Given the description of an element on the screen output the (x, y) to click on. 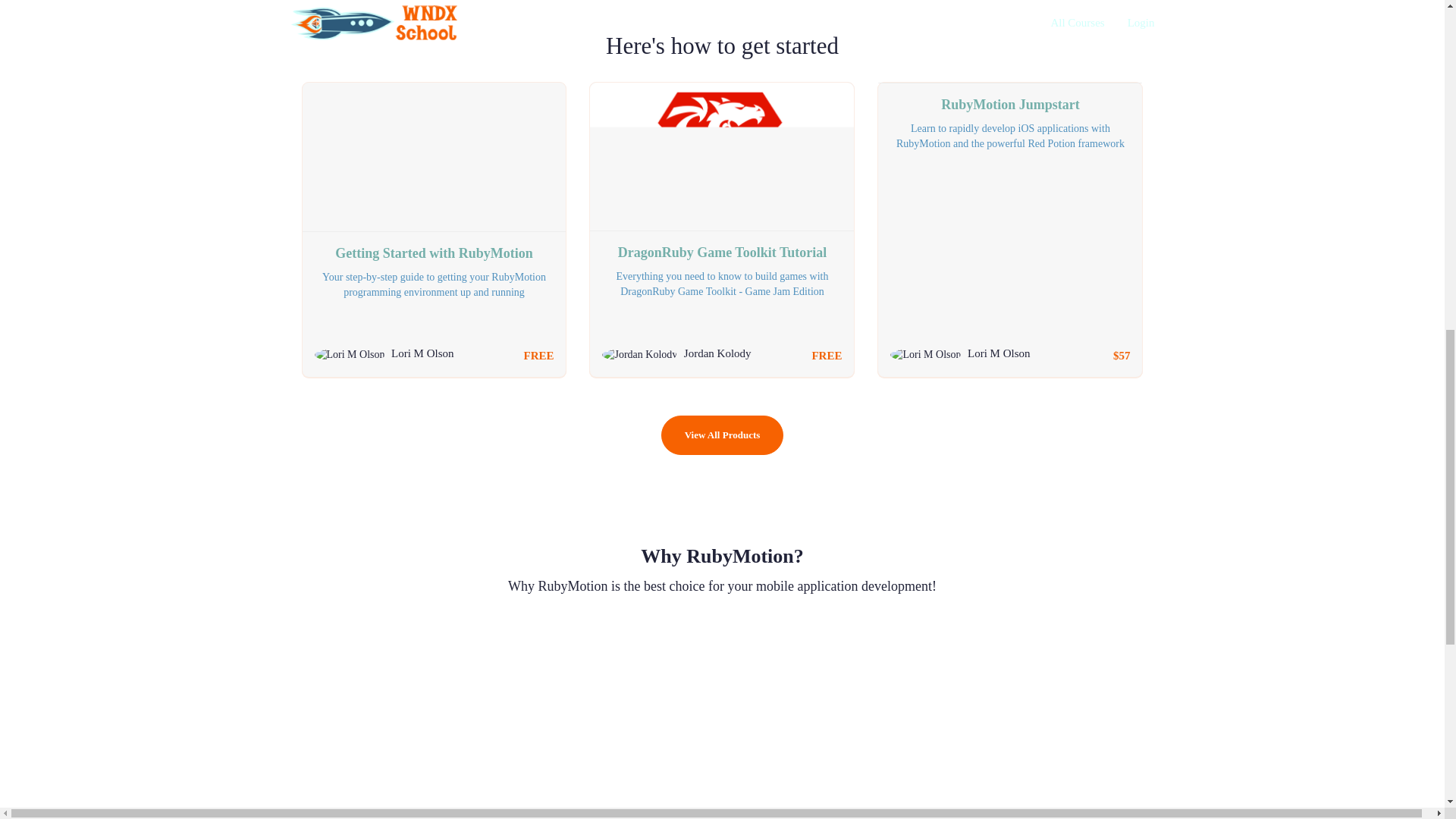
DragonRuby Game Toolkit Tutorial (721, 247)
View All Products (722, 435)
RubyMotion Jumpstart (1009, 100)
Getting Started with RubyMotion (433, 248)
